Given the description of an element on the screen output the (x, y) to click on. 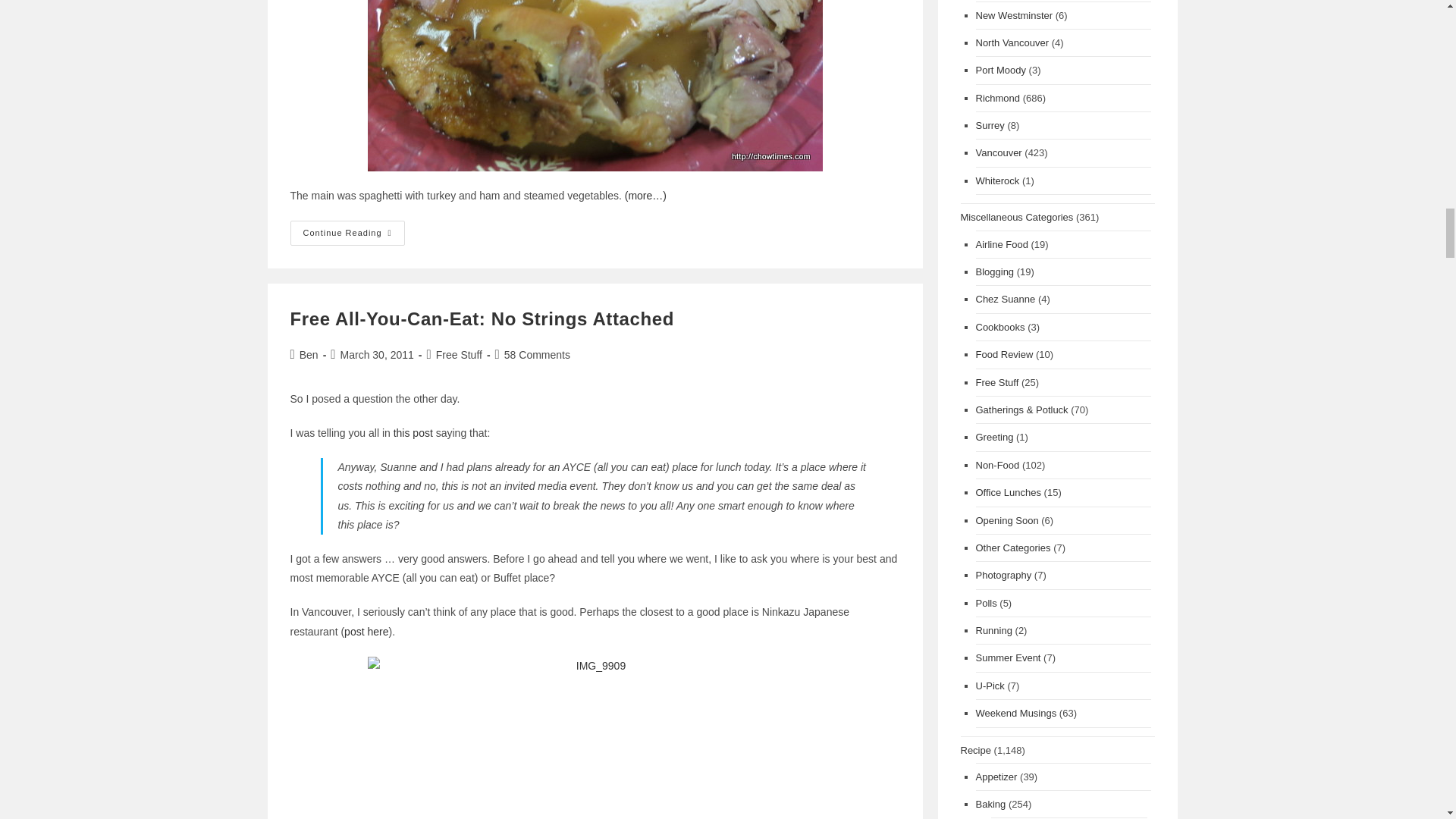
Free All-You-Can-Eat: No Strings Attached (480, 318)
this post (412, 432)
post here (365, 631)
Free Stuff (458, 354)
Posts by Ben (308, 354)
Ben (308, 354)
58 Comments (536, 354)
Ninkazu Japanese Restaurant in Richmond (365, 631)
